Given the description of an element on the screen output the (x, y) to click on. 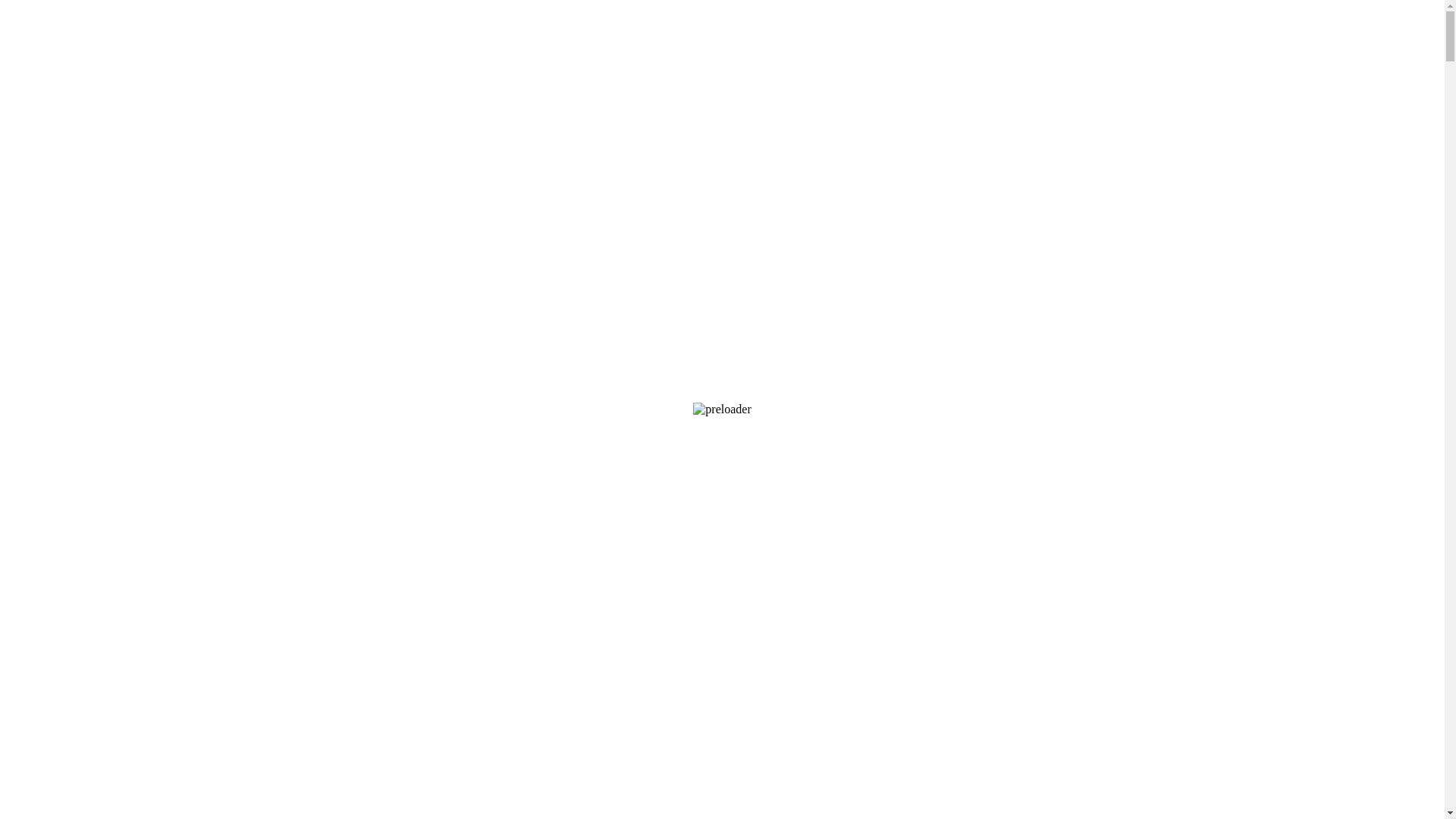
Proteini Element type: text (196, 583)
Login / Register Element type: text (45, 157)
0 items 0.00 KM Element type: text (46, 184)
0 items 0.00 KM Element type: text (46, 260)
Menu Element type: text (20, 198)
Kontaktirajte nas Element type: text (77, 49)
Search Element type: text (165, 143)
